Given the description of an element on the screen output the (x, y) to click on. 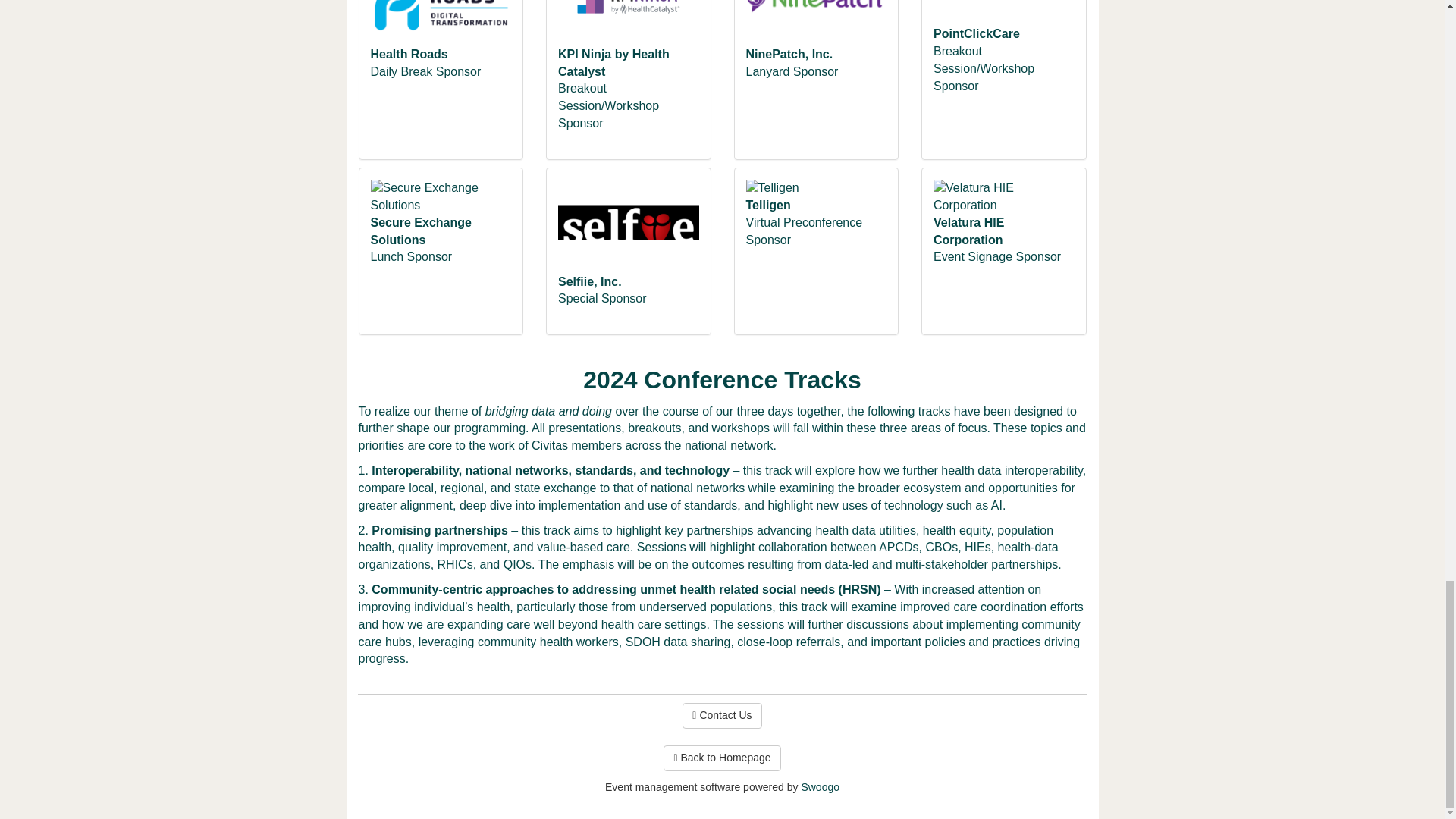
Contact Us (721, 715)
Sponsor Details (1003, 204)
Sponsor Details (627, 233)
Sponsor Details (627, 30)
Sponsor Details (440, 204)
Sponsor Details (440, 30)
Sponsor Details (1003, 20)
Sponsor Details (815, 30)
Swoogo (820, 787)
Back to Homepage (721, 758)
Sponsor Details (815, 195)
